Given the description of an element on the screen output the (x, y) to click on. 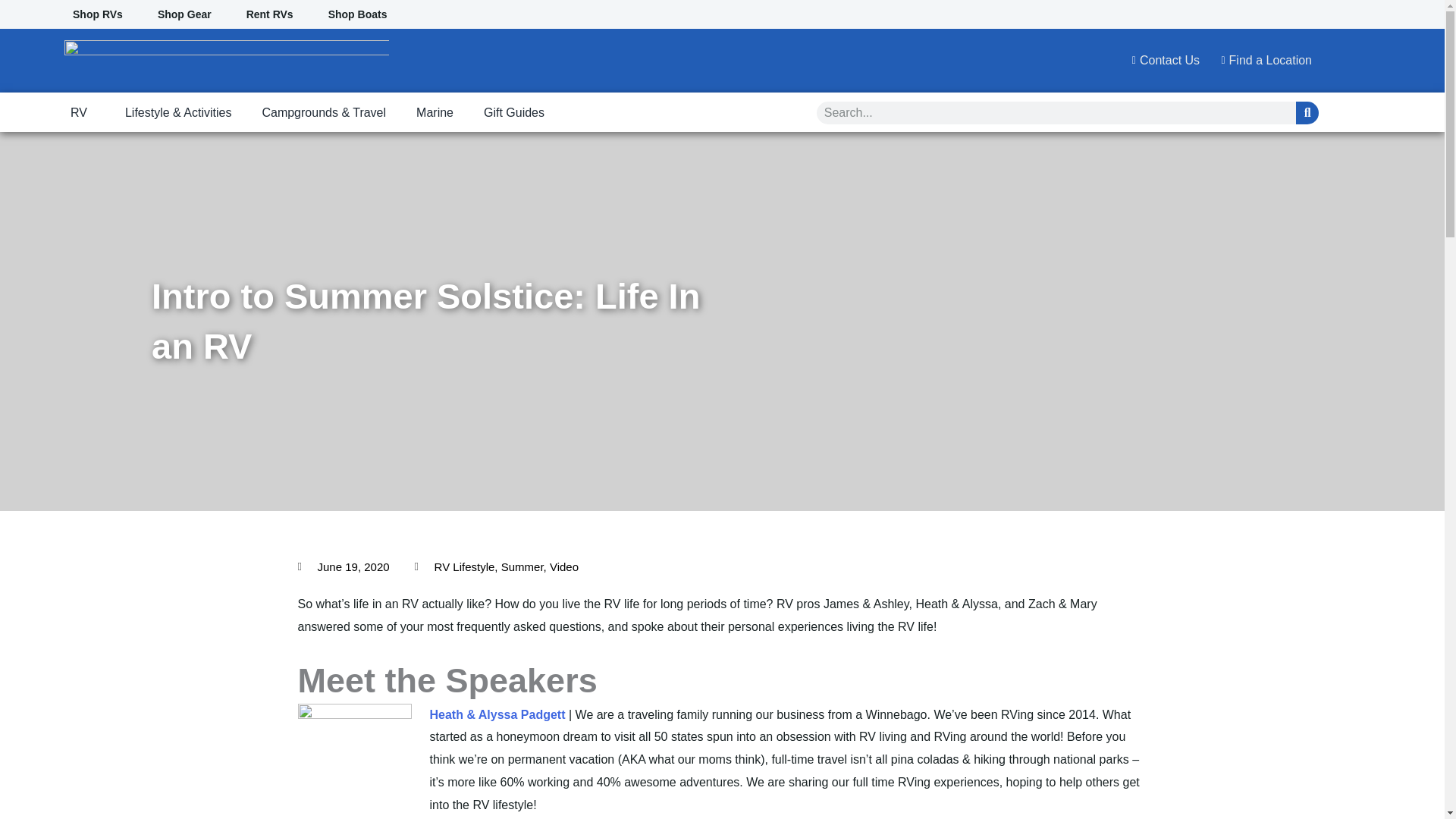
Rent RVs (269, 14)
Shop RVs (97, 14)
Shop Gear (183, 14)
RV (82, 112)
Marine (434, 112)
Contact Us (1160, 60)
Shop Boats (357, 14)
Find a Location (1261, 60)
